Given the description of an element on the screen output the (x, y) to click on. 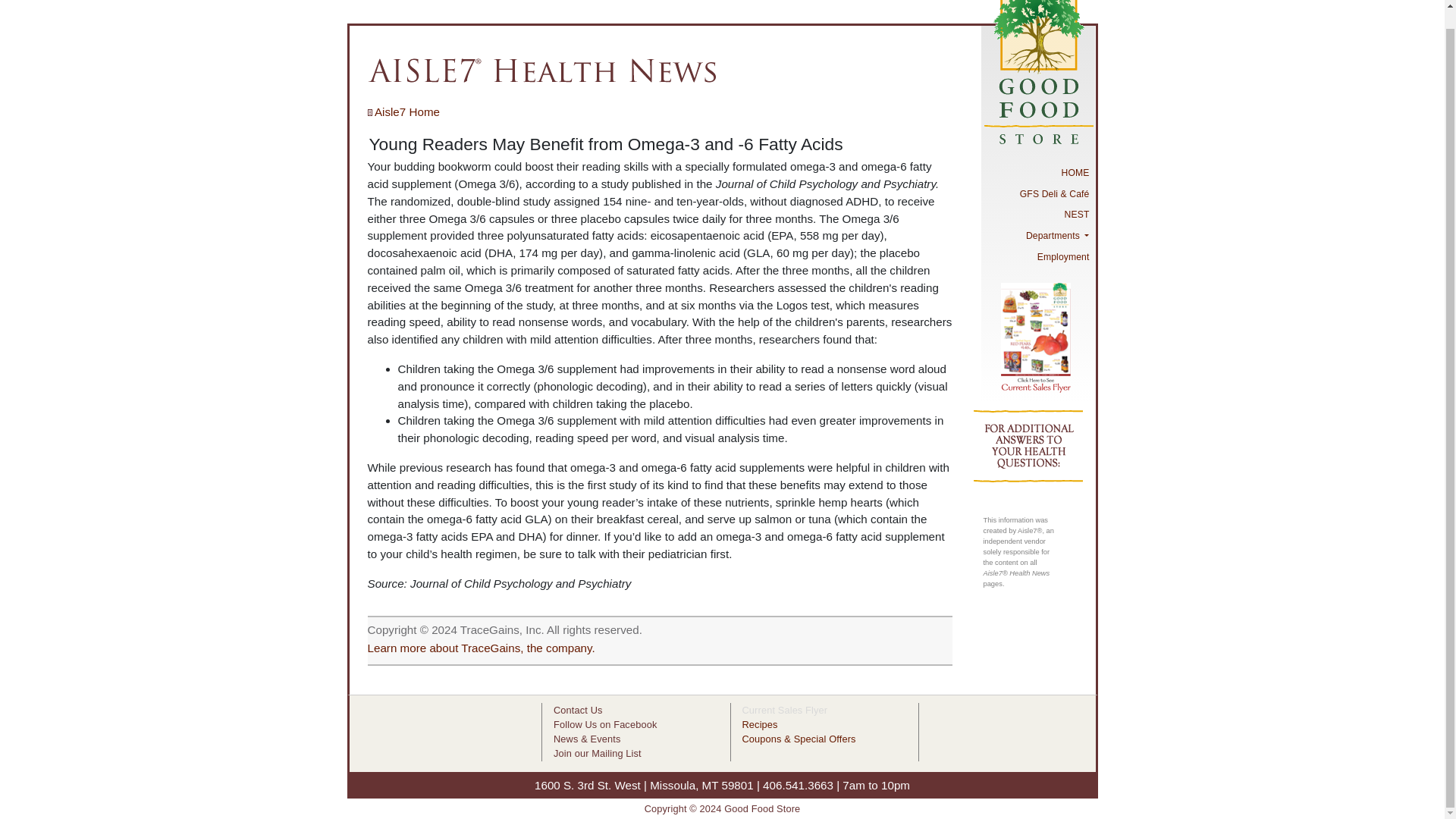
Join our Mailing List (597, 753)
Learn more about TraceGains, the company. (480, 647)
Contact Us (577, 709)
Current Sales Flyer (784, 709)
Follow Us on Facebook (604, 724)
Join Us on Facebook (604, 724)
Recipes (759, 724)
Aisle7 Home (402, 111)
Departments (1037, 235)
NEST (1037, 215)
